Given the description of an element on the screen output the (x, y) to click on. 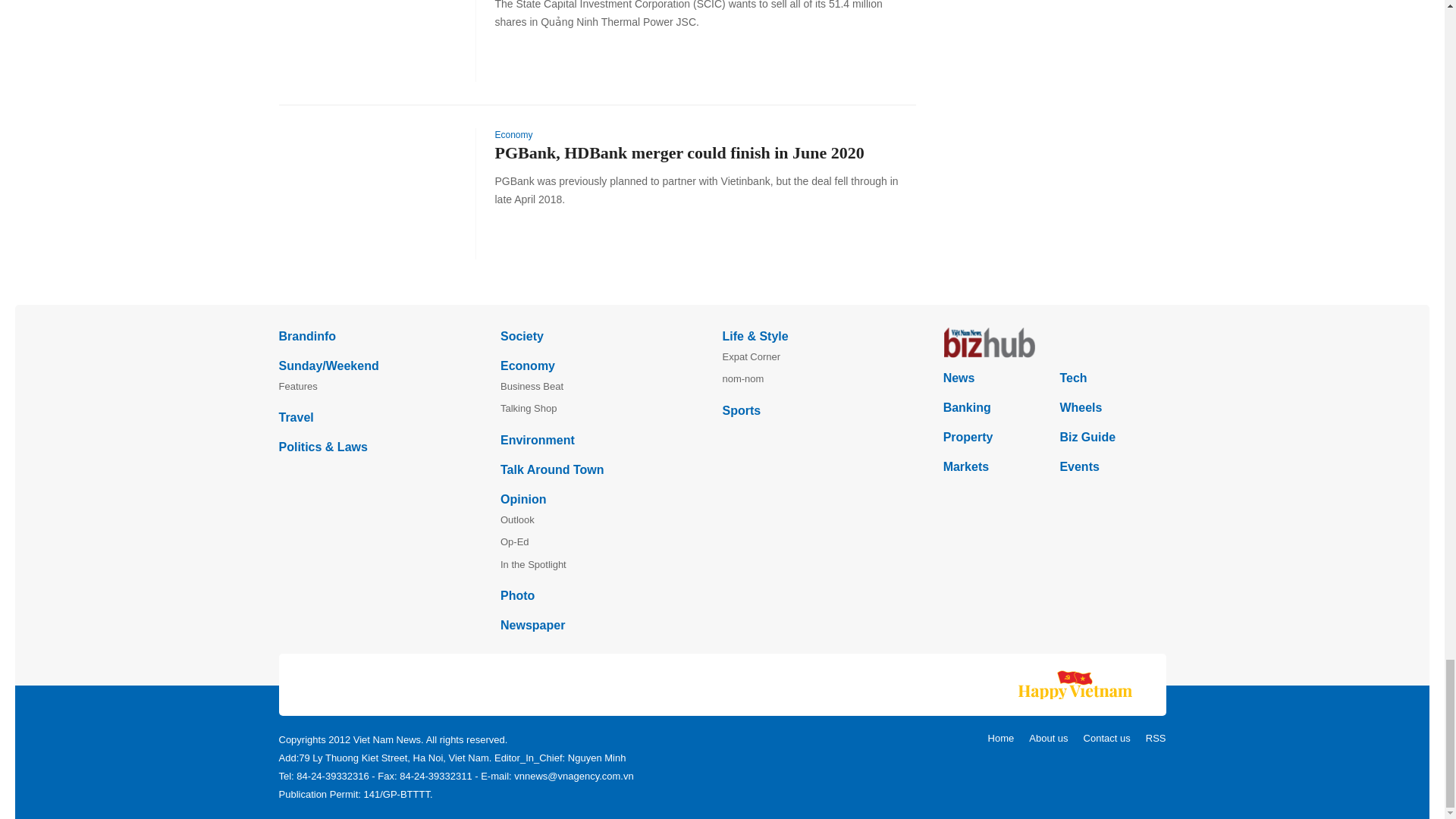
bizhub (1054, 342)
